Given the description of an element on the screen output the (x, y) to click on. 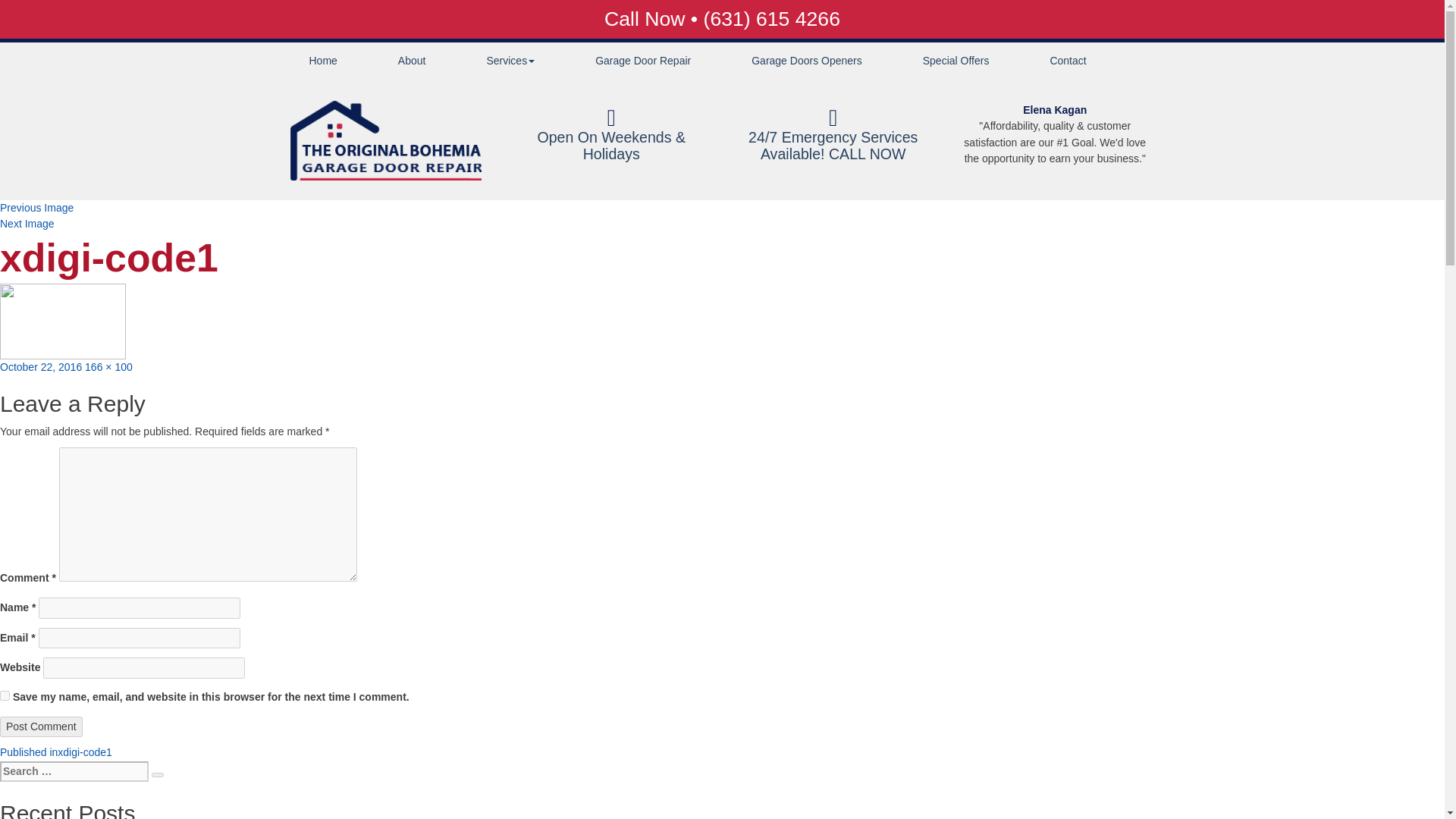
Published inxdigi-code1 (56, 752)
Previous Image (37, 207)
October 22, 2016 (40, 367)
Next Image (27, 223)
Contact (1067, 60)
Post Comment (41, 726)
Post Comment (41, 726)
Special Offers (956, 60)
Home (323, 60)
yes (5, 696)
Services (509, 60)
About (412, 60)
Garage Door Repair (642, 60)
Search (157, 775)
Garage Doors Openers (806, 60)
